Given the description of an element on the screen output the (x, y) to click on. 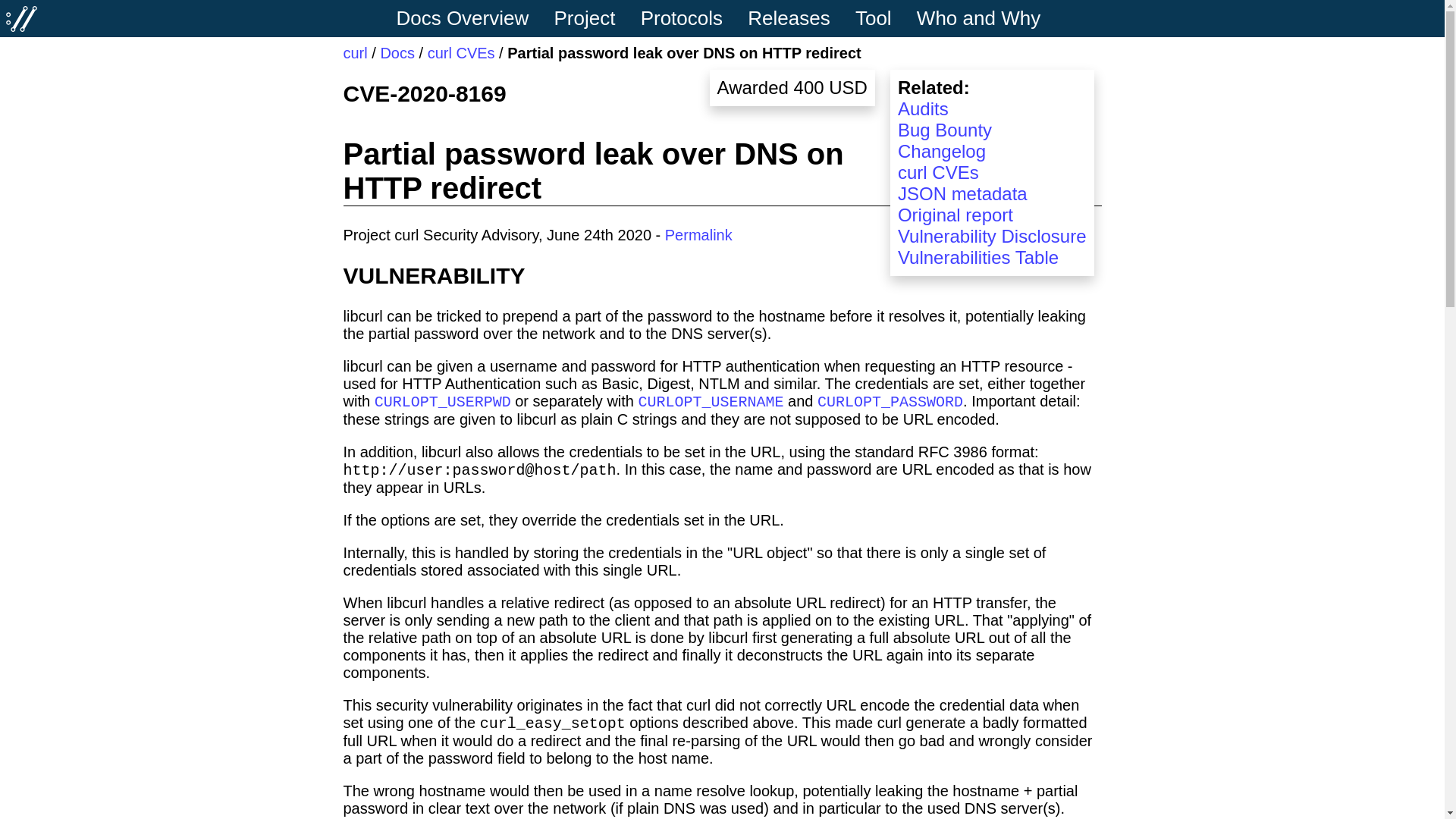
Docs Overview (472, 17)
Project (593, 17)
Protocols (691, 17)
Tool (883, 17)
Releases (798, 17)
Documentation Overview (472, 17)
